Given the description of an element on the screen output the (x, y) to click on. 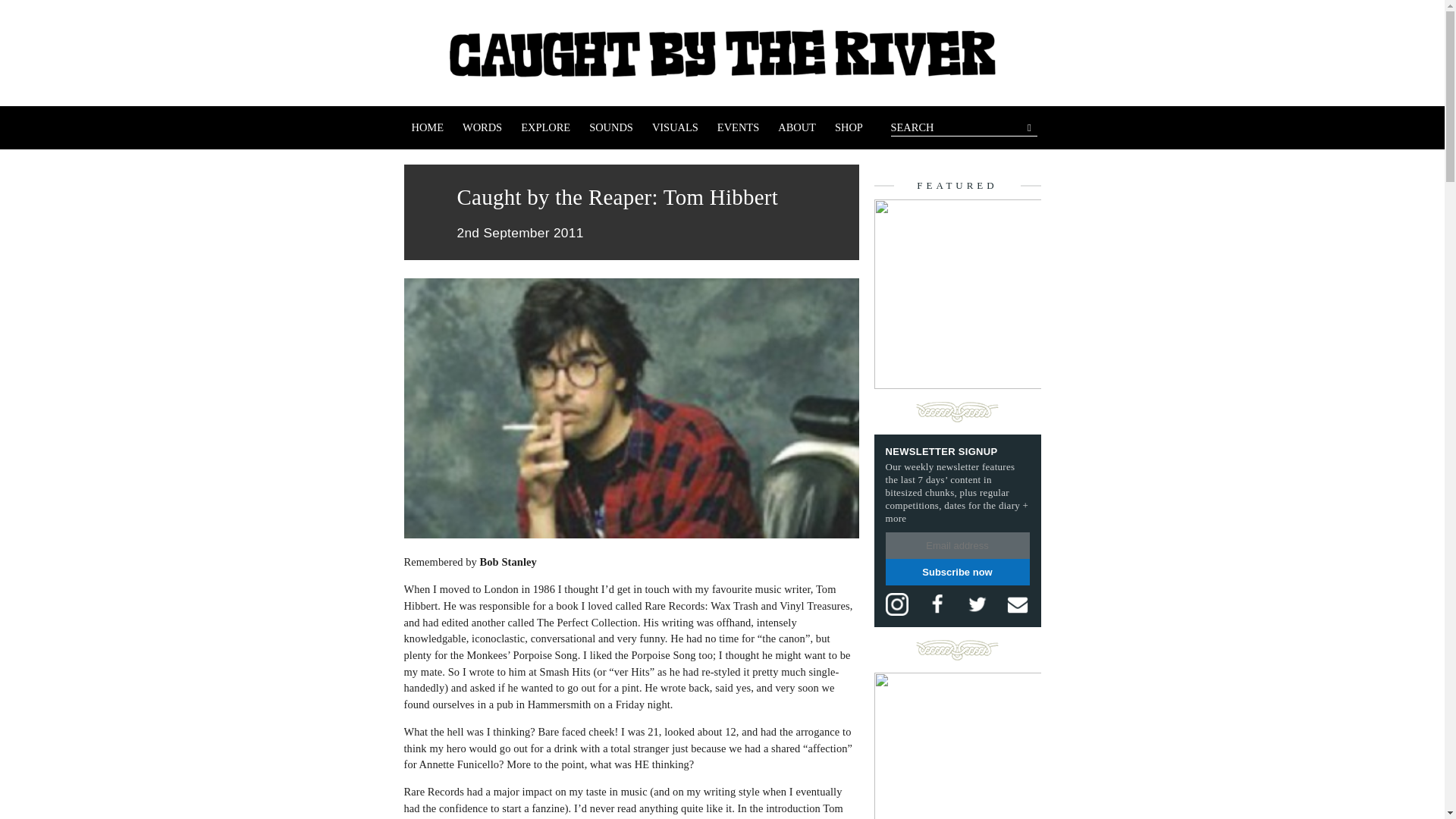
Follow us on Instagram (896, 603)
Follow us on Twitter (977, 603)
WORDS (481, 127)
VISUALS (675, 127)
Find us on Facebook (937, 603)
HOME (427, 127)
Subscribe now (957, 571)
SOUNDS (610, 127)
tomhibbertbigger (631, 408)
SHOP (848, 127)
